Given the description of an element on the screen output the (x, y) to click on. 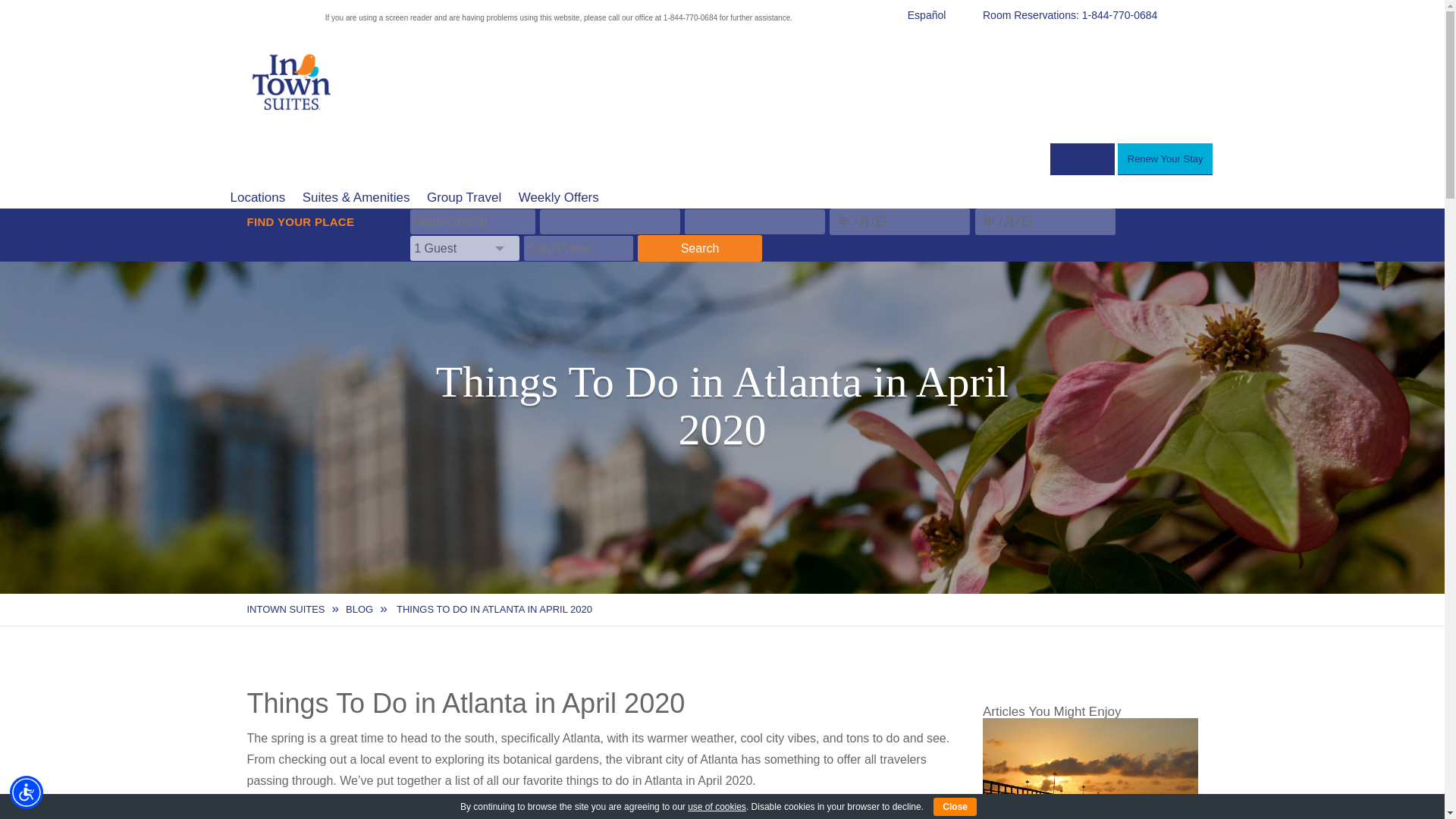
Renew Your Stay (1165, 159)
Search (699, 248)
Room Reservations: 1-844-770-0684 (1090, 14)
Return to Homepage (292, 119)
InTown Suites (285, 609)
Accessibility Menu (26, 792)
Group Travel (456, 197)
BLOG (359, 609)
INTOWN SUITES (285, 609)
Weekly Offers (551, 197)
Book Now (1082, 159)
Search (699, 248)
Locations (250, 197)
